Given the description of an element on the screen output the (x, y) to click on. 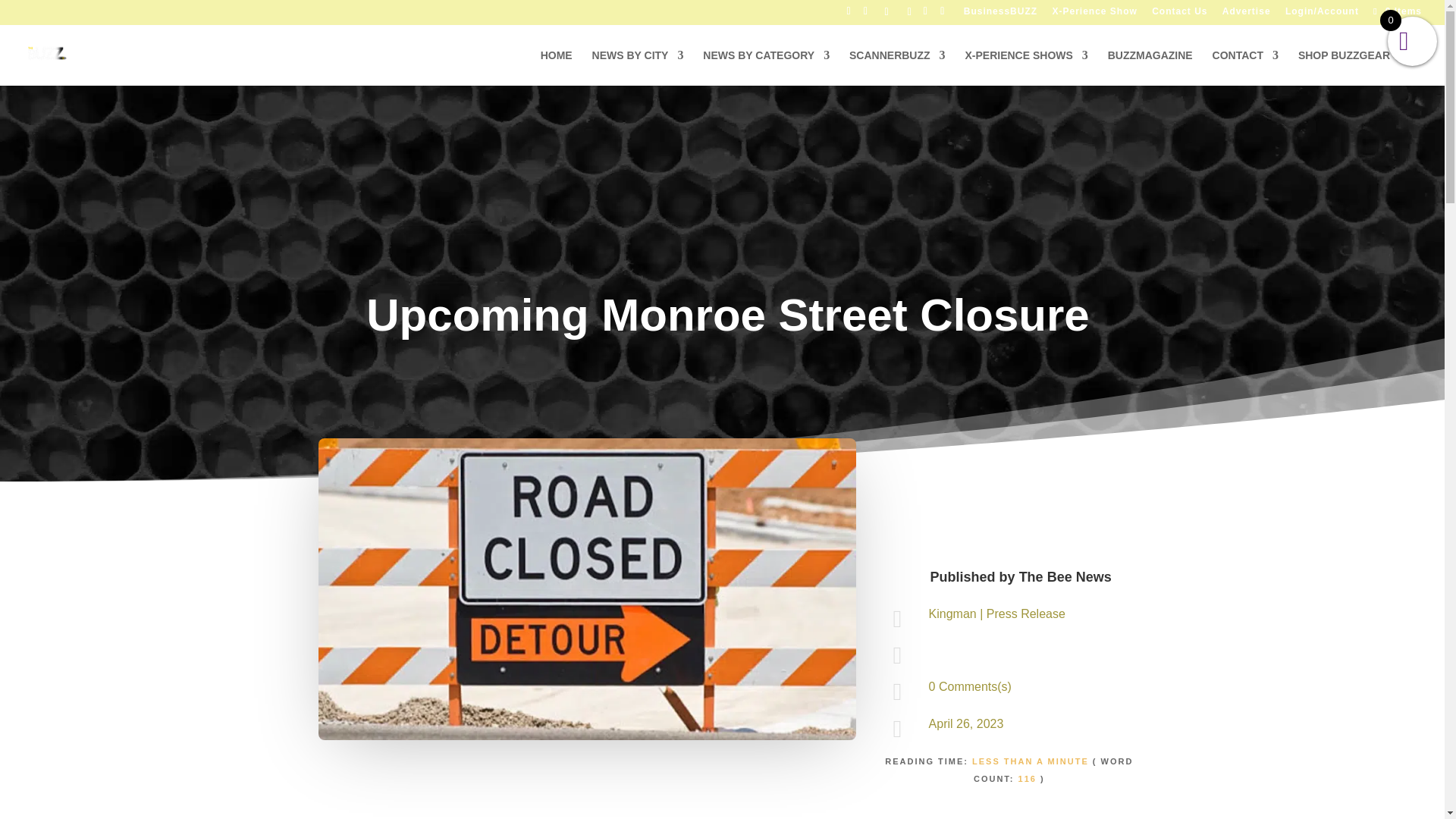
NEWS BY CITY (638, 67)
SCANNERBUZZ (896, 67)
BusinessBUZZ (999, 14)
HOME (556, 67)
Advertise (1247, 14)
NEWS BY CATEGORY (766, 67)
0 Items (1396, 10)
X-Perience Show (1094, 14)
Contact Us (1179, 14)
